Given the description of an element on the screen output the (x, y) to click on. 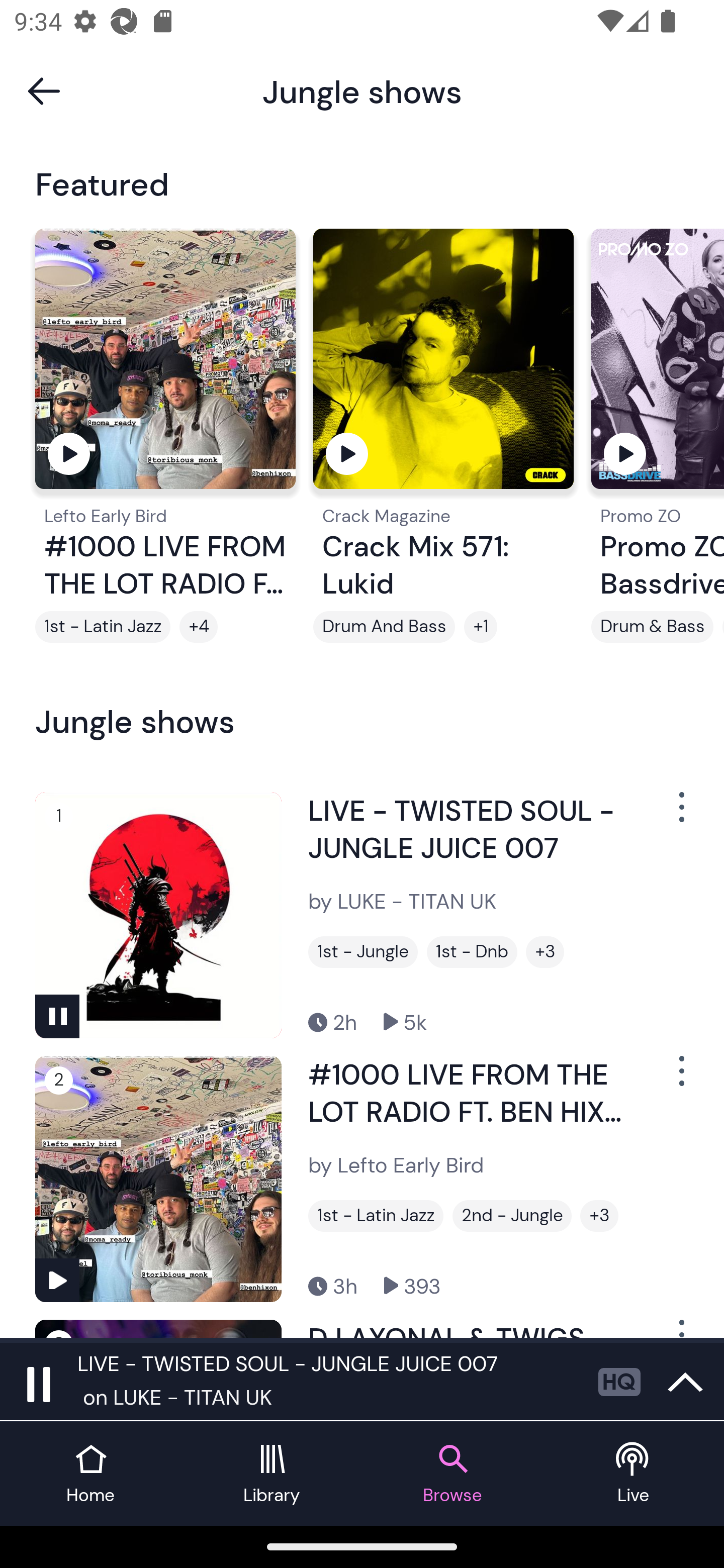
1st - Latin Jazz (102, 626)
Drum And Bass (383, 626)
Drum & Bass (652, 626)
Show Options Menu Button (679, 814)
1st - Jungle (362, 951)
1st - Dnb (472, 951)
Show Options Menu Button (679, 1078)
1st - Latin Jazz (375, 1215)
2nd - Jungle (511, 1215)
Home tab Home (90, 1473)
Library tab Library (271, 1473)
Browse tab Browse (452, 1473)
Live tab Live (633, 1473)
